Given the description of an element on the screen output the (x, y) to click on. 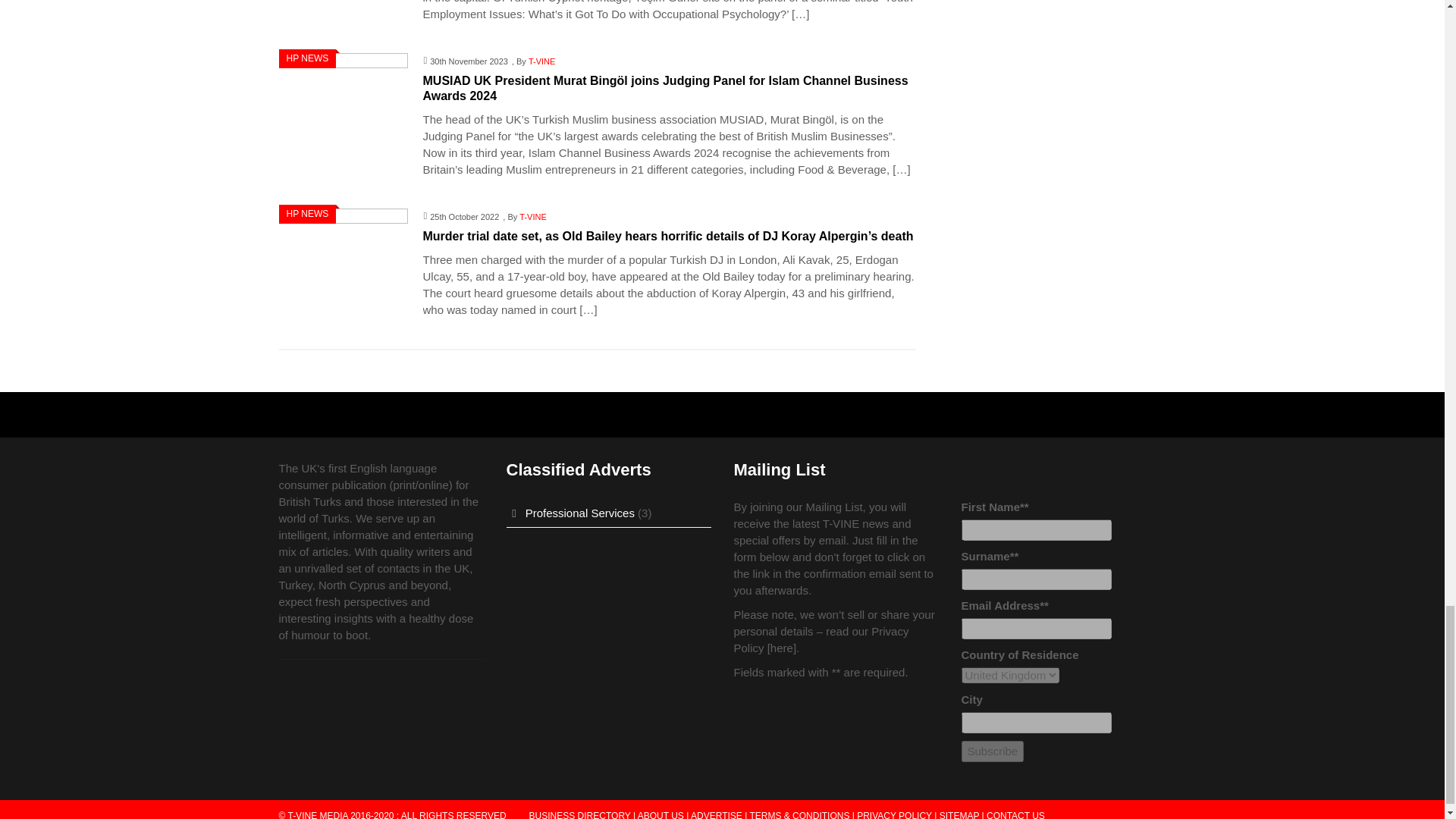
Subscribe (992, 751)
